Given the description of an element on the screen output the (x, y) to click on. 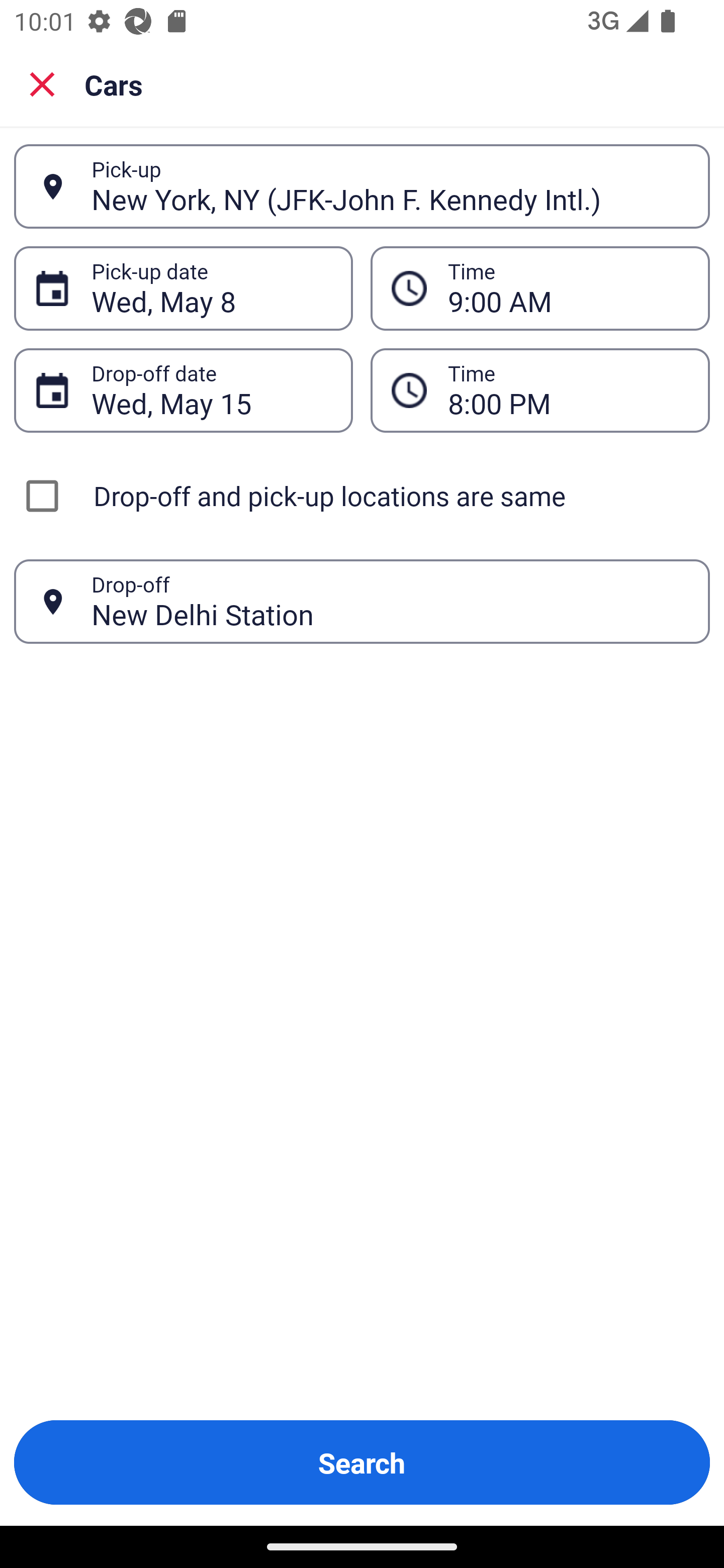
Close search screen (41, 83)
New York, NY (JFK-John F. Kennedy Intl.) Pick-up (361, 186)
New York, NY (JFK-John F. Kennedy Intl.) (389, 186)
Wed, May 8 Pick-up date (183, 288)
9:00 AM (540, 288)
Wed, May 8 (211, 288)
9:00 AM (568, 288)
Wed, May 15 Drop-off date (183, 390)
8:00 PM (540, 390)
Wed, May 15 (211, 390)
8:00 PM (568, 390)
Drop-off and pick-up locations are same (361, 495)
New Delhi Station Drop-off (361, 601)
New Delhi Station (389, 601)
Search Button Search (361, 1462)
